Given the description of an element on the screen output the (x, y) to click on. 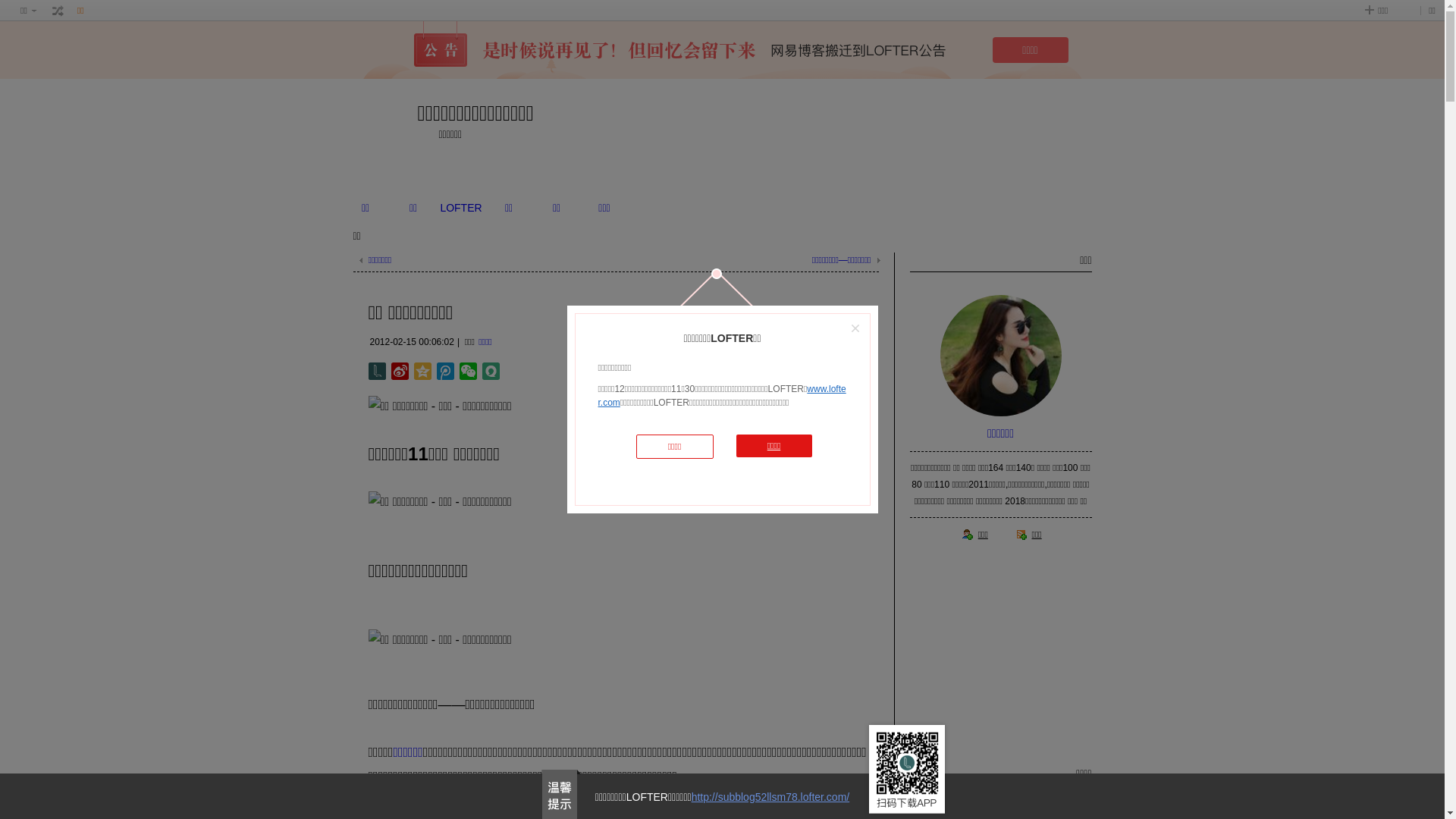
LOFTER Element type: text (460, 207)
www.lofter.com Element type: text (721, 395)
http://subblog52llsm78.lofter.com/ Element type: text (770, 796)
  Element type: text (58, 10)
